Given the description of an element on the screen output the (x, y) to click on. 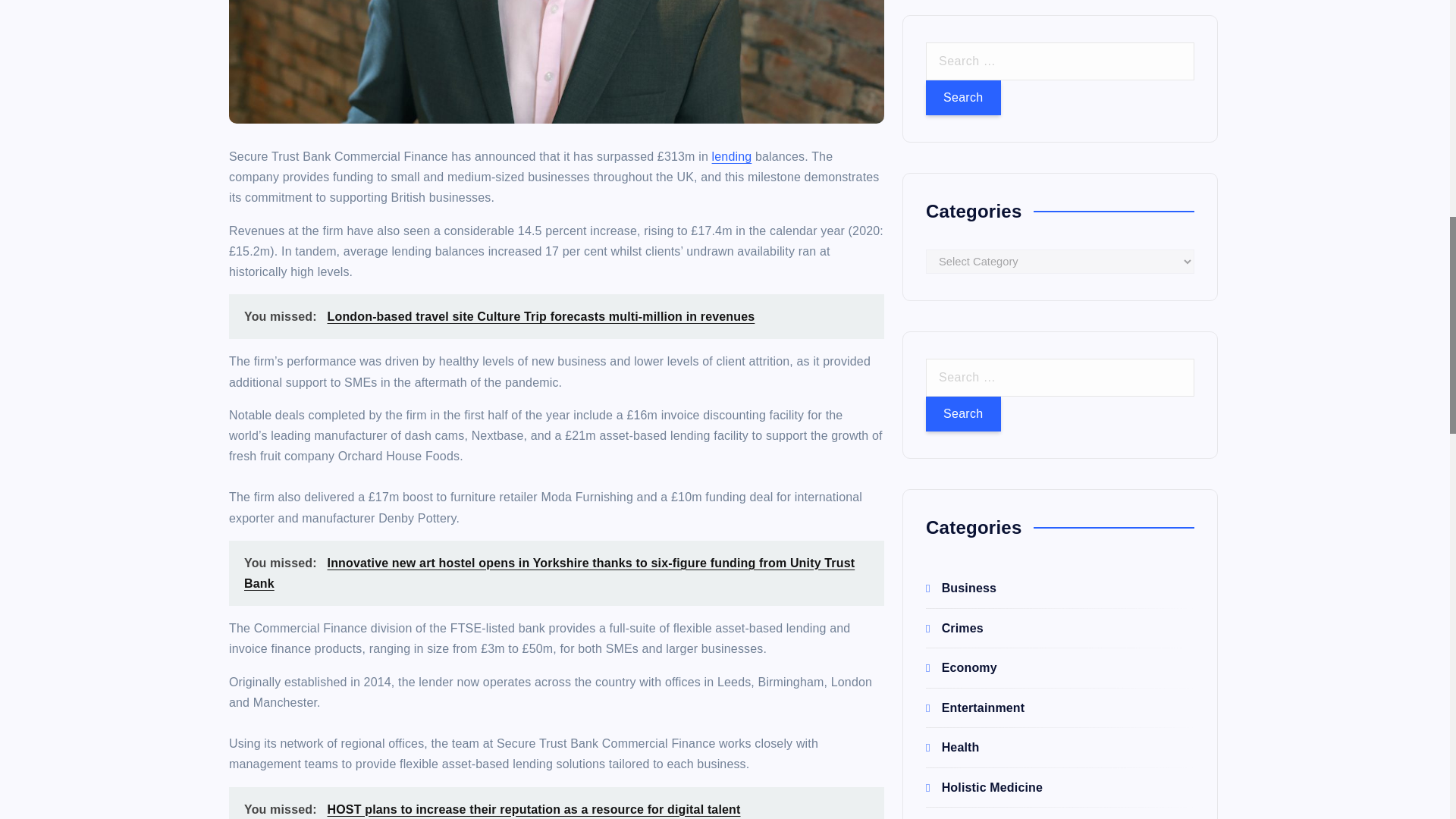
lending (731, 155)
